Given the description of an element on the screen output the (x, y) to click on. 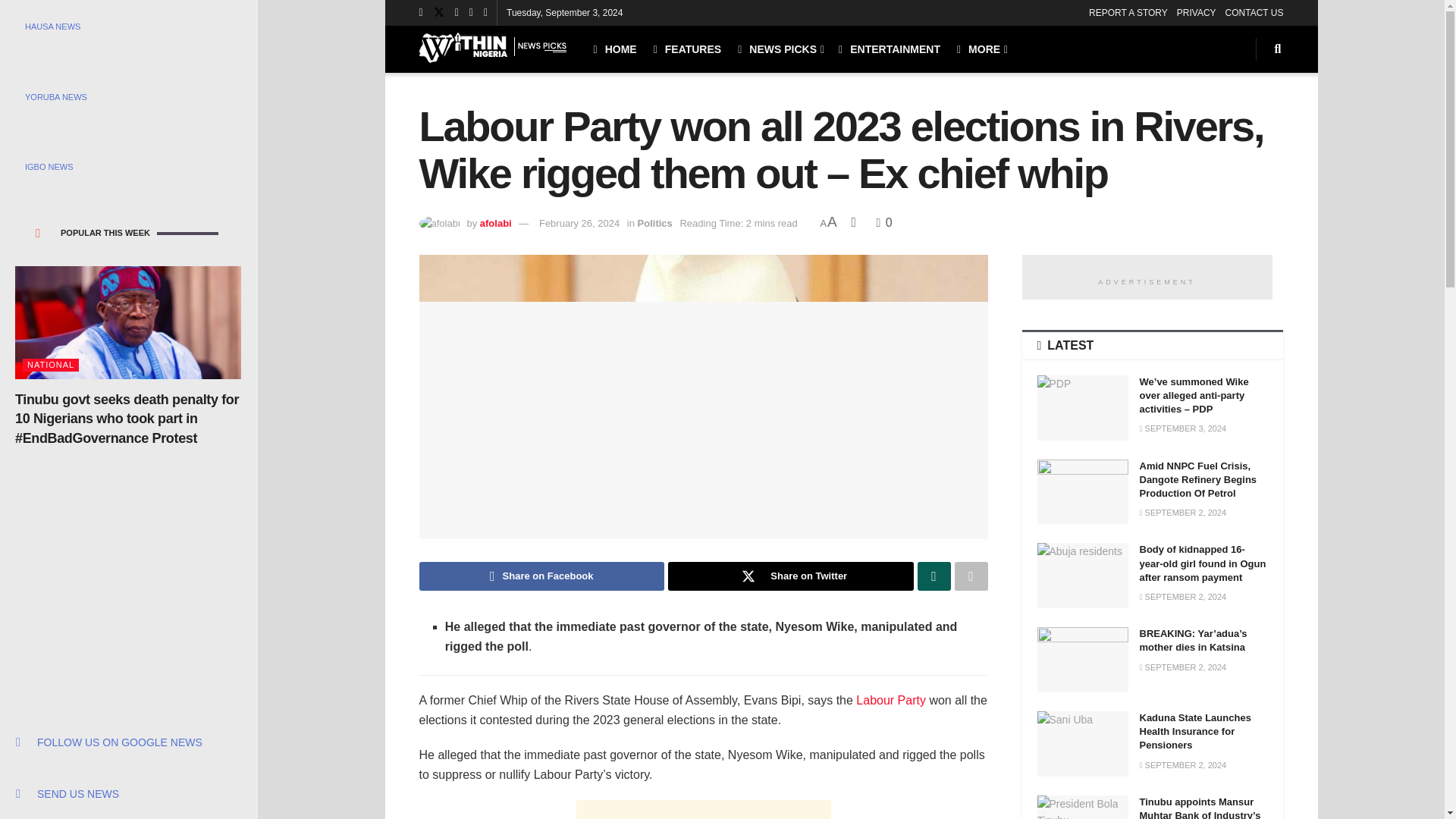
IGBO NEWS (127, 166)
YORUBA NEWS (127, 96)
SEND US NEWS (128, 793)
IGBO NEWS (127, 166)
HAUSA NEWS (127, 26)
WITHIN NIGERIA ON GOOGLE NEWS (128, 742)
ENTERTAINMENT (889, 48)
FEATURES (687, 48)
HOME (614, 48)
NATIONAL (50, 364)
